Given the description of an element on the screen output the (x, y) to click on. 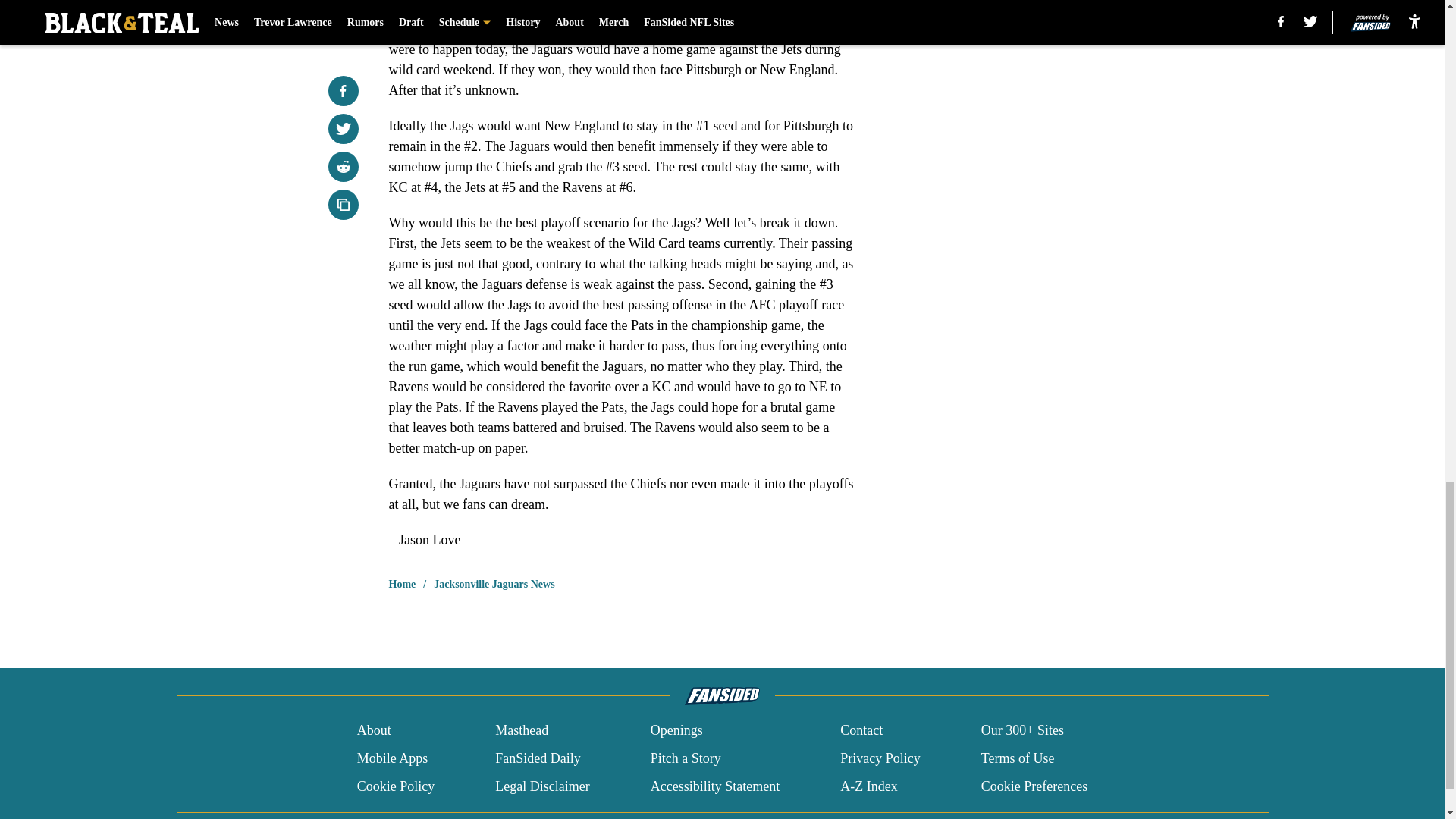
Openings (676, 730)
Privacy Policy (880, 758)
Cookie Policy (395, 786)
Mobile Apps (392, 758)
About (373, 730)
Terms of Use (1017, 758)
Cookie Preferences (1034, 786)
Home (401, 584)
Legal Disclaimer (542, 786)
Pitch a Story (685, 758)
